Given the description of an element on the screen output the (x, y) to click on. 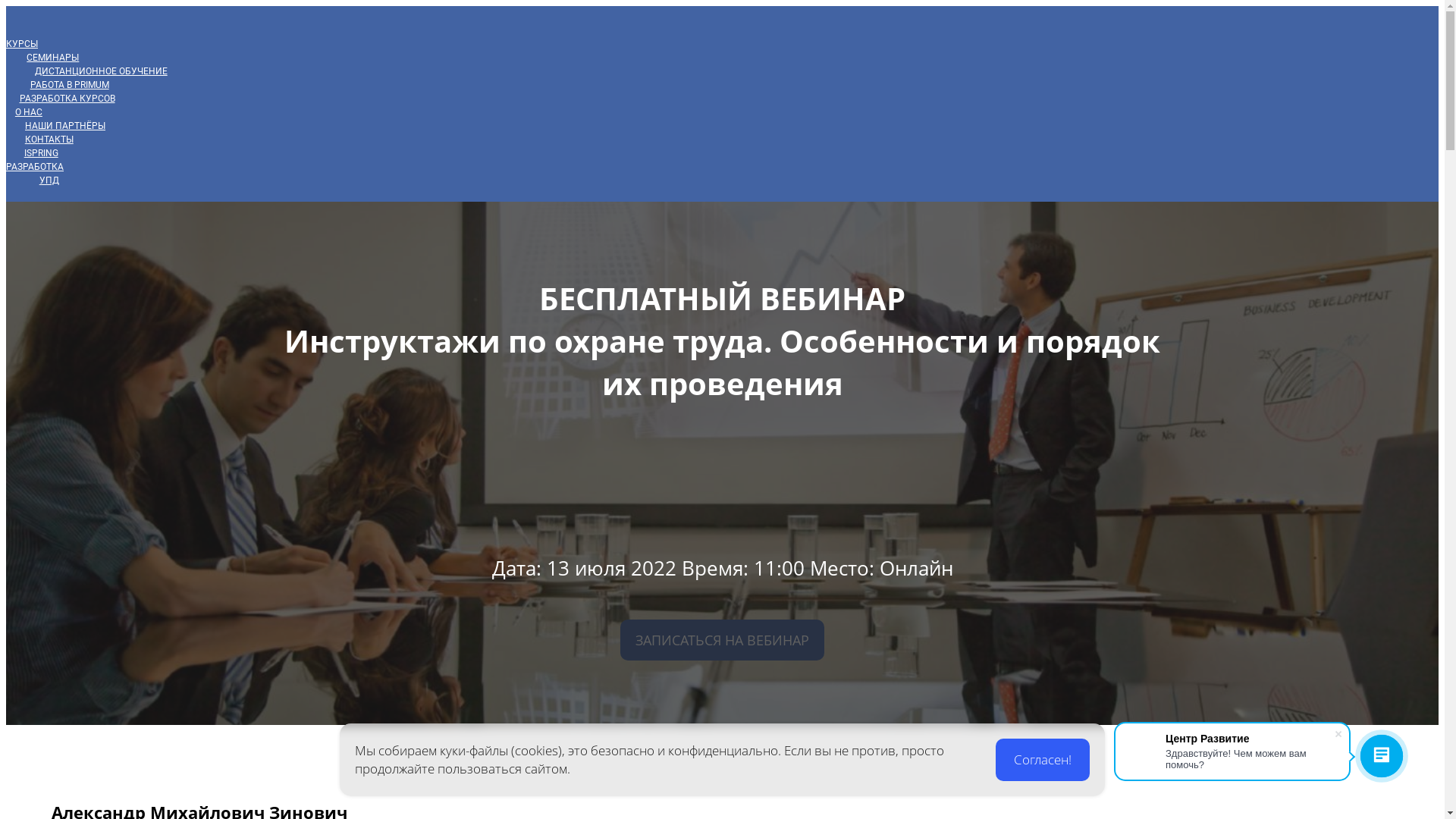
ISPRING Element type: text (41, 152)
